Given the description of an element on the screen output the (x, y) to click on. 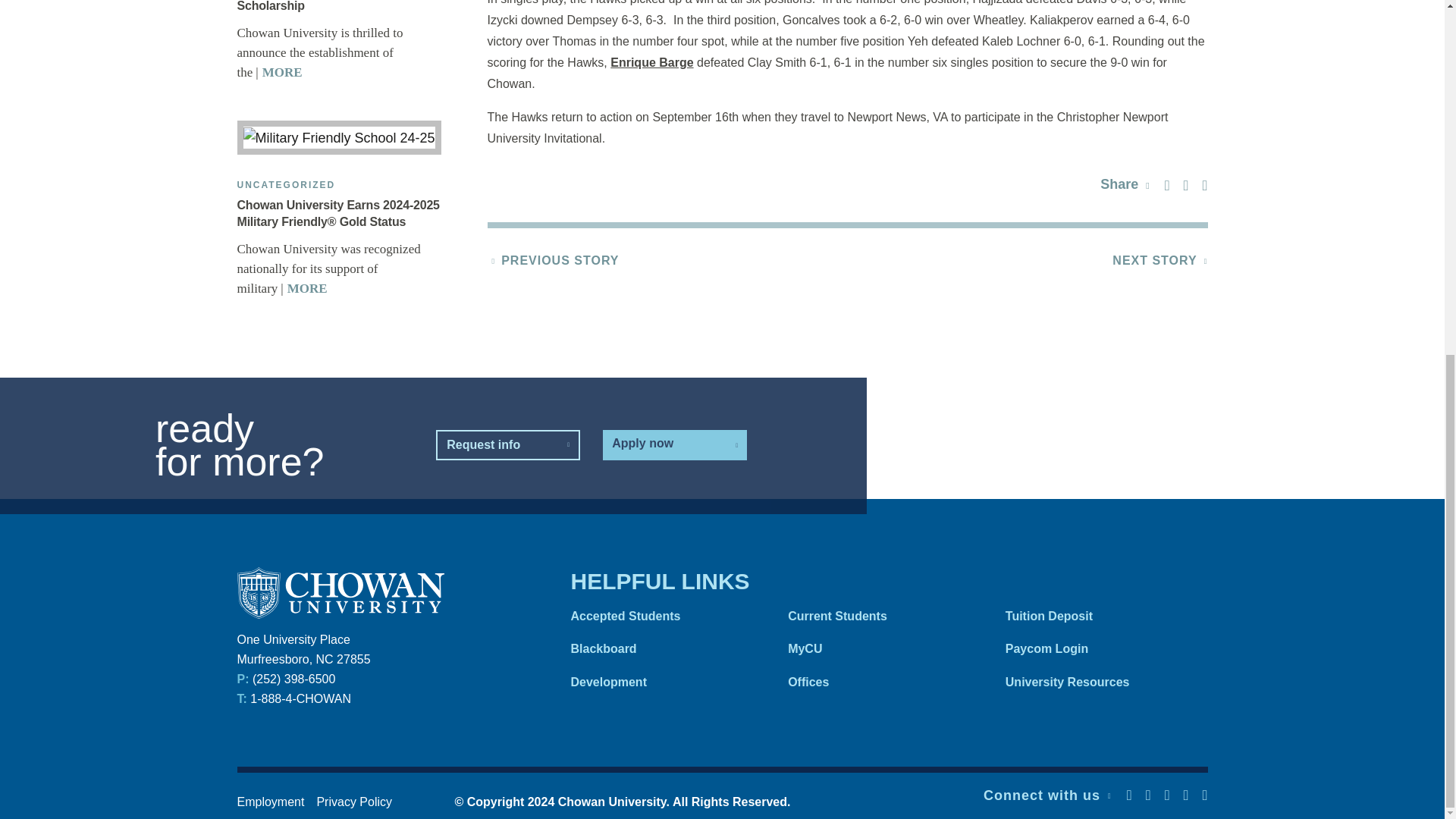
MORE (276, 72)
Current Students (881, 615)
Current Students (881, 615)
MyCU (881, 648)
University Resources (1099, 681)
Tuition Deposit (1099, 615)
Blackboard (663, 648)
PREVIOUS STORY (559, 259)
MyCU (881, 648)
